Given the description of an element on the screen output the (x, y) to click on. 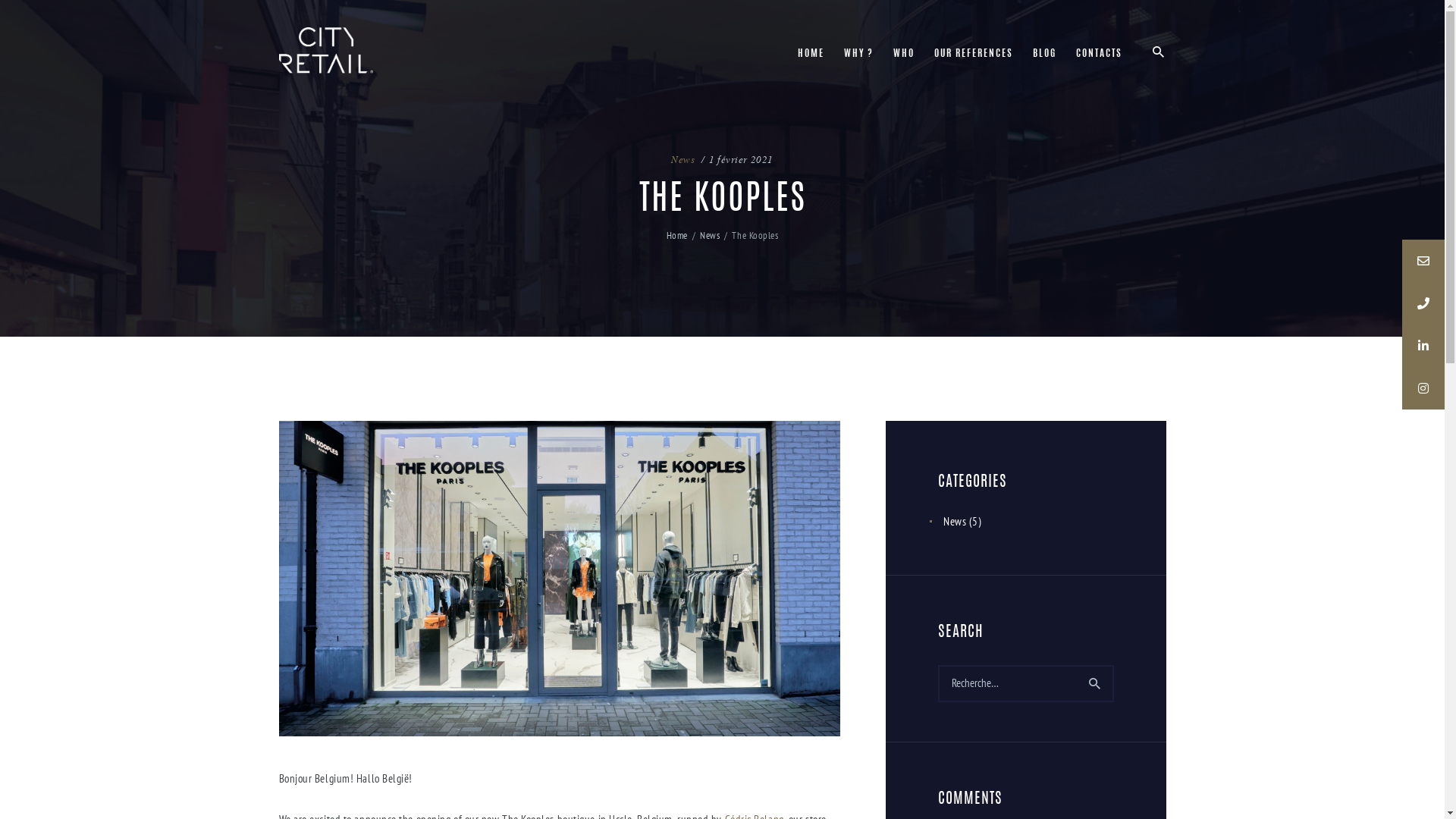
WHY ? Element type: text (858, 54)
CONTACTS Element type: text (1099, 54)
WHO Element type: text (903, 54)
Home Element type: text (676, 235)
BLOG Element type: text (1044, 54)
HOME Element type: text (810, 54)
Rechercher Element type: text (1094, 683)
News Element type: text (709, 235)
News Element type: text (682, 159)
OUR REFERENCES Element type: text (973, 54)
News Element type: text (954, 521)
